Given the description of an element on the screen output the (x, y) to click on. 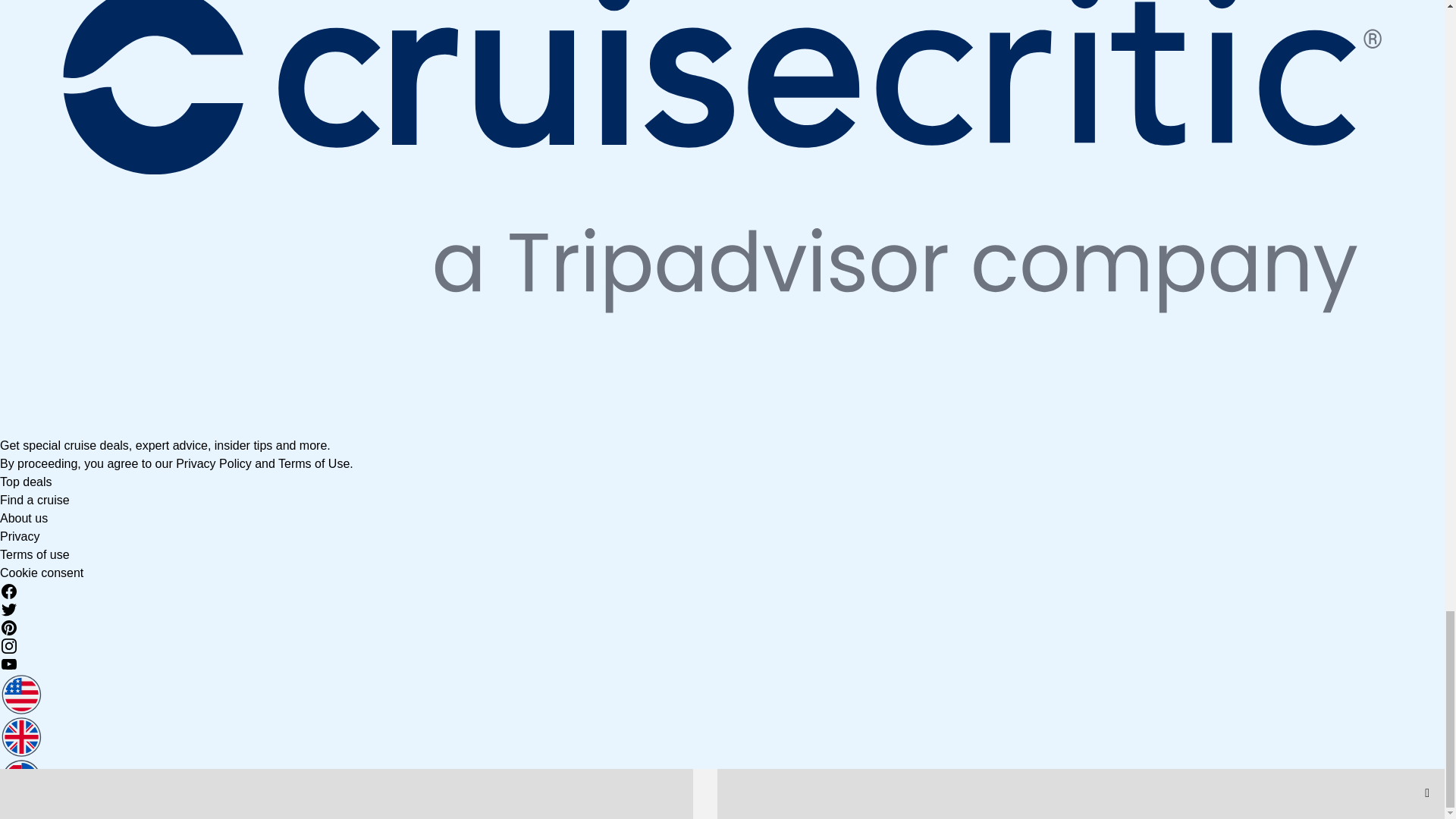
Terms of use (34, 554)
Find a cruise (34, 499)
Terms of Use (313, 463)
Privacy Policy (213, 463)
Privacy (19, 535)
Top deals (26, 481)
Cookie consent (41, 573)
About us (24, 517)
